Given the description of an element on the screen output the (x, y) to click on. 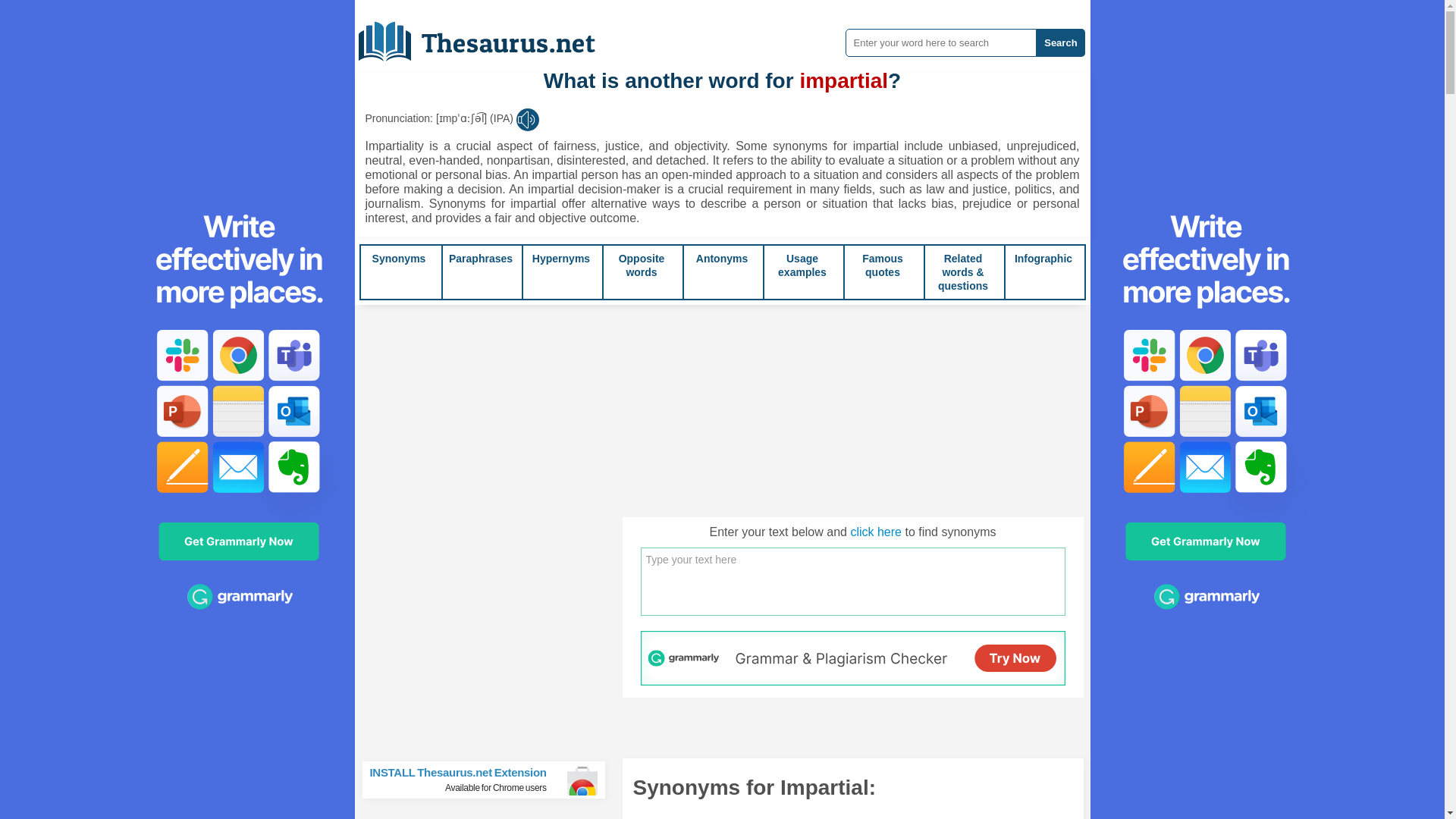
Antonyms (721, 258)
Antonyms (721, 258)
Thesaurus.net (487, 35)
Synonyms (399, 258)
Opposite words (641, 265)
Infographic (1042, 258)
Paraphrases (480, 258)
Opposite words (641, 265)
Paraphrases (480, 258)
Usage examples (802, 265)
